Given the description of an element on the screen output the (x, y) to click on. 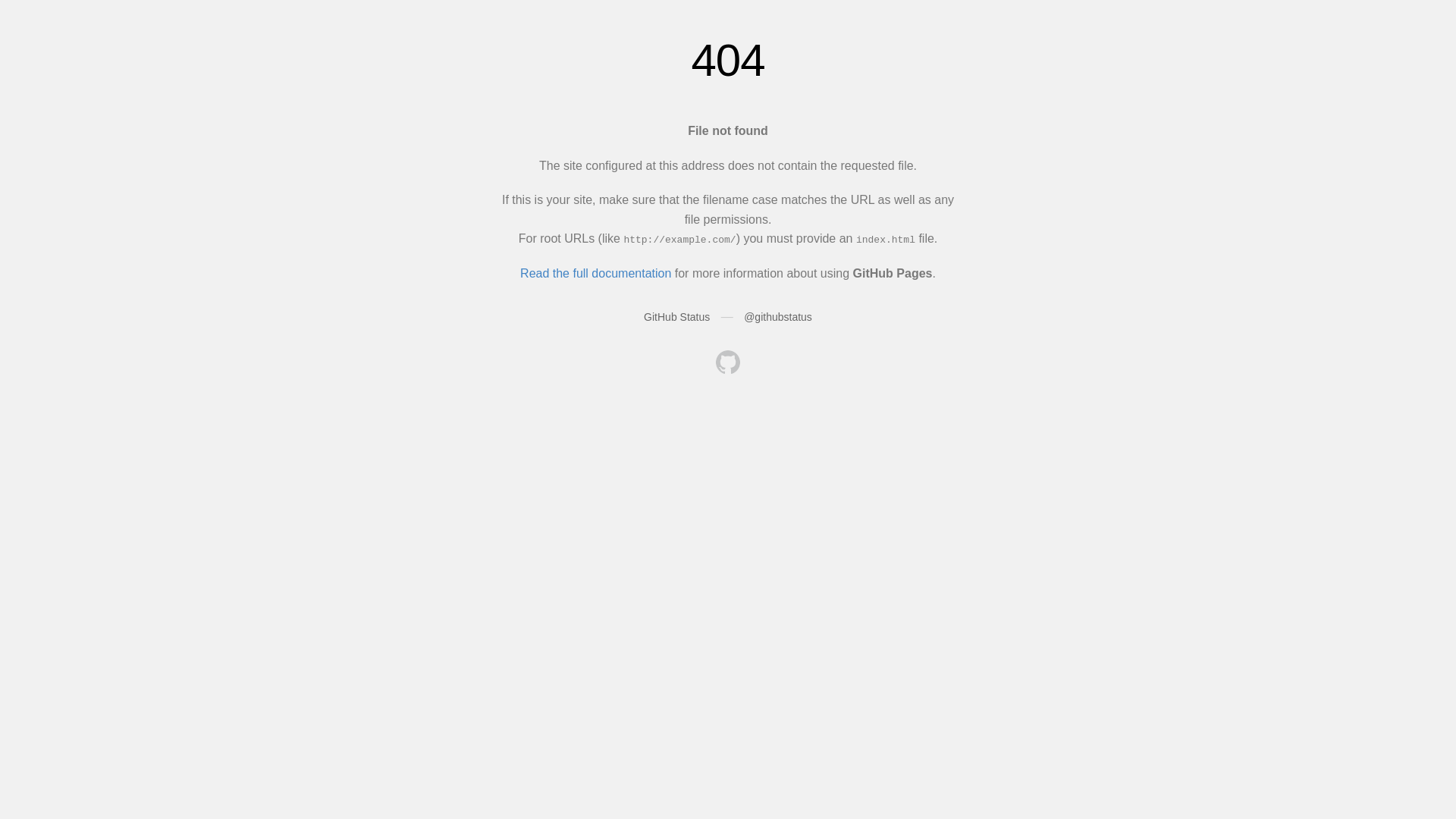
@githubstatus Element type: text (777, 316)
Read the full documentation Element type: text (595, 272)
GitHub Status Element type: text (676, 316)
